Given the description of an element on the screen output the (x, y) to click on. 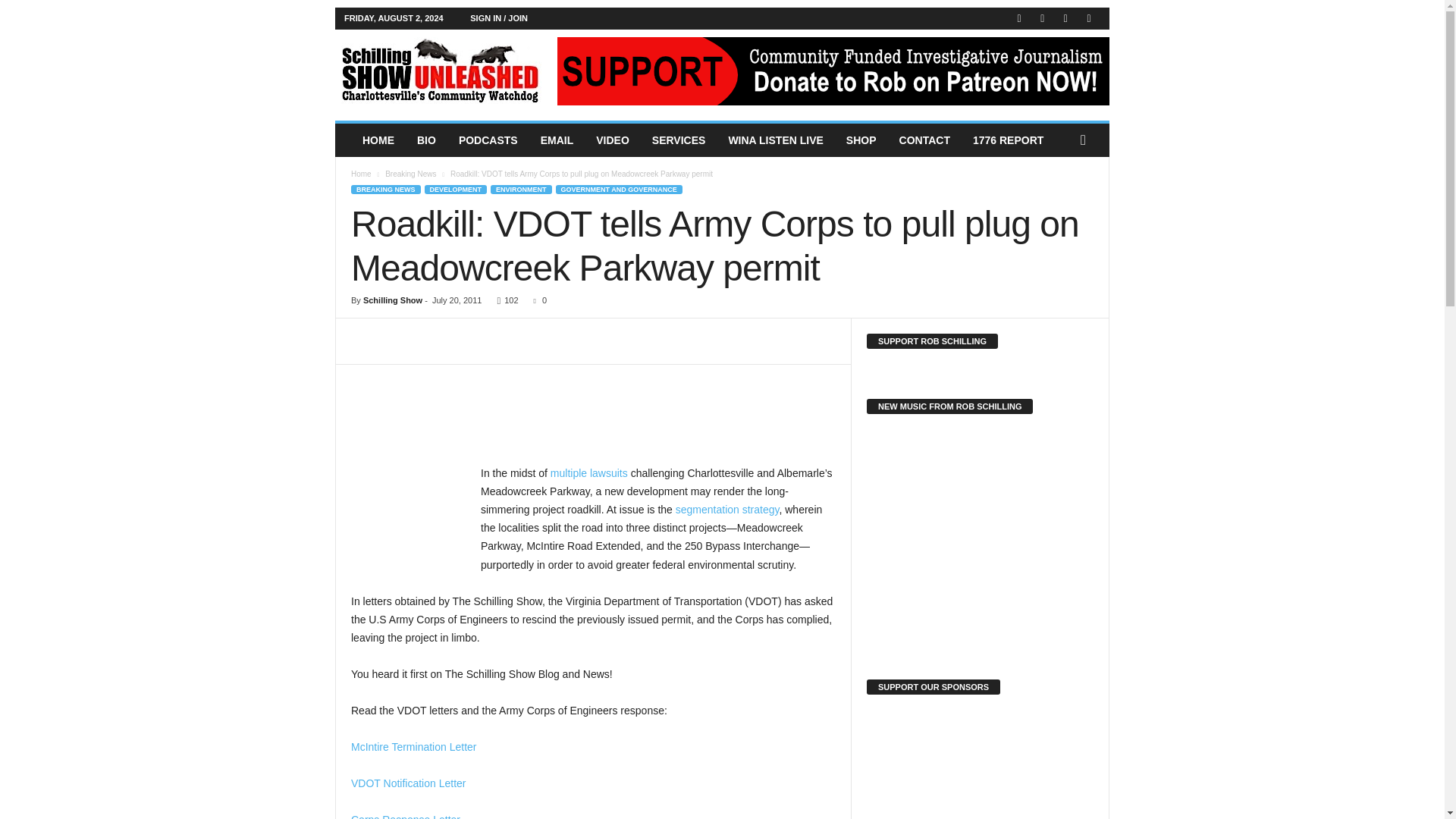
SERVICES (678, 140)
VIDEO (612, 140)
SHOP (861, 140)
Community Funded Investigative Journalism (437, 70)
BIO (426, 140)
The Schilling Show Blog (437, 70)
WINA LISTEN LIVE (775, 140)
EMAIL (557, 140)
PODCASTS (487, 140)
View all posts in Breaking News (410, 173)
HOME (378, 140)
